Given the description of an element on the screen output the (x, y) to click on. 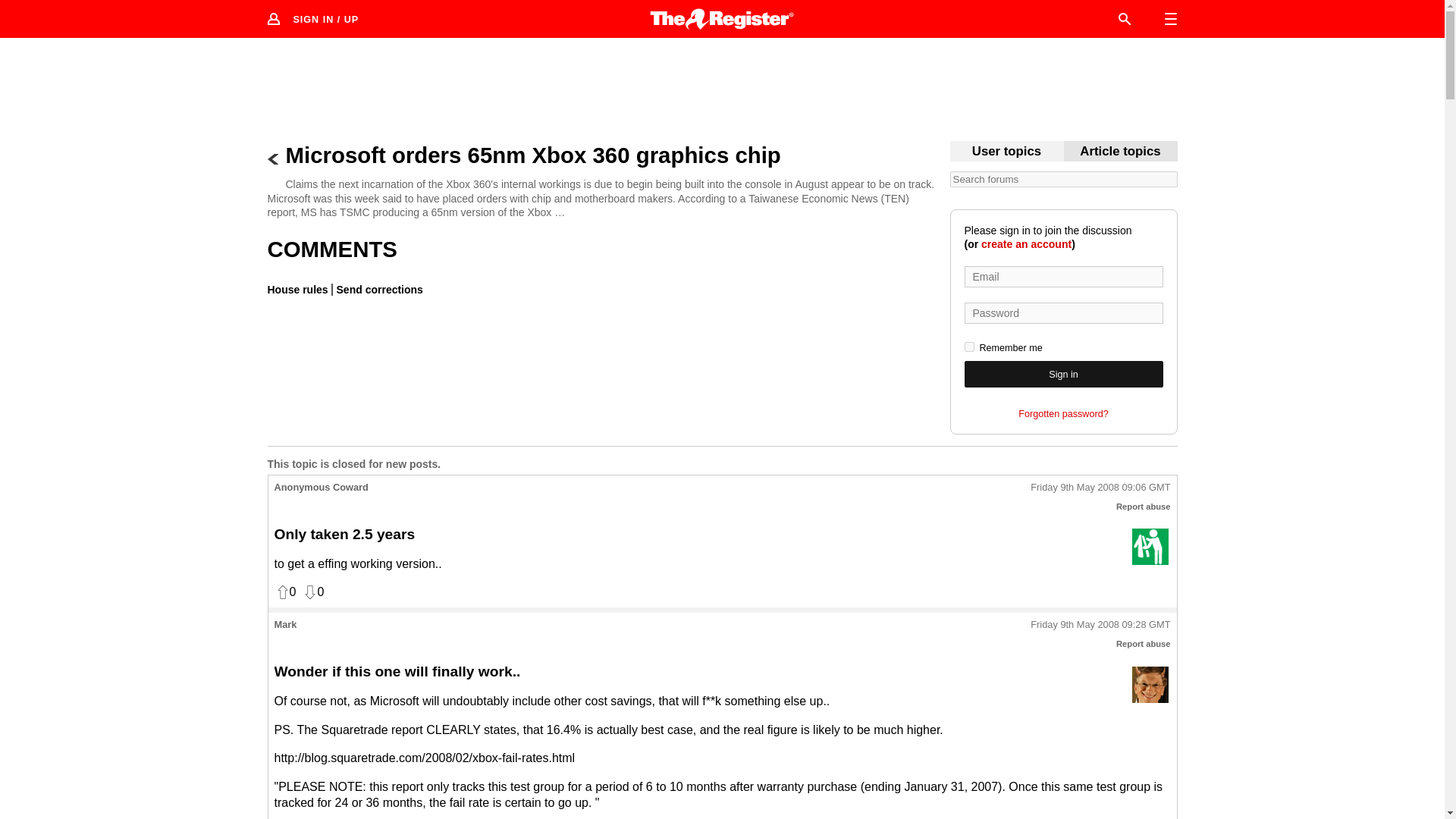
For corrections, please use link below article copy, kthxbye (1120, 151)
Spotted an error? Let us know. (377, 289)
Sign in (1063, 374)
yes (968, 347)
Inappropriate post? Report it to our moderators (1143, 506)
Commentards, Commentards, Commentards (1006, 151)
Dislike this post? Vote it down! (312, 591)
Report abuse (1143, 643)
Outlook not so good (1149, 684)
Permalink to this post (1100, 487)
